Given the description of an element on the screen output the (x, y) to click on. 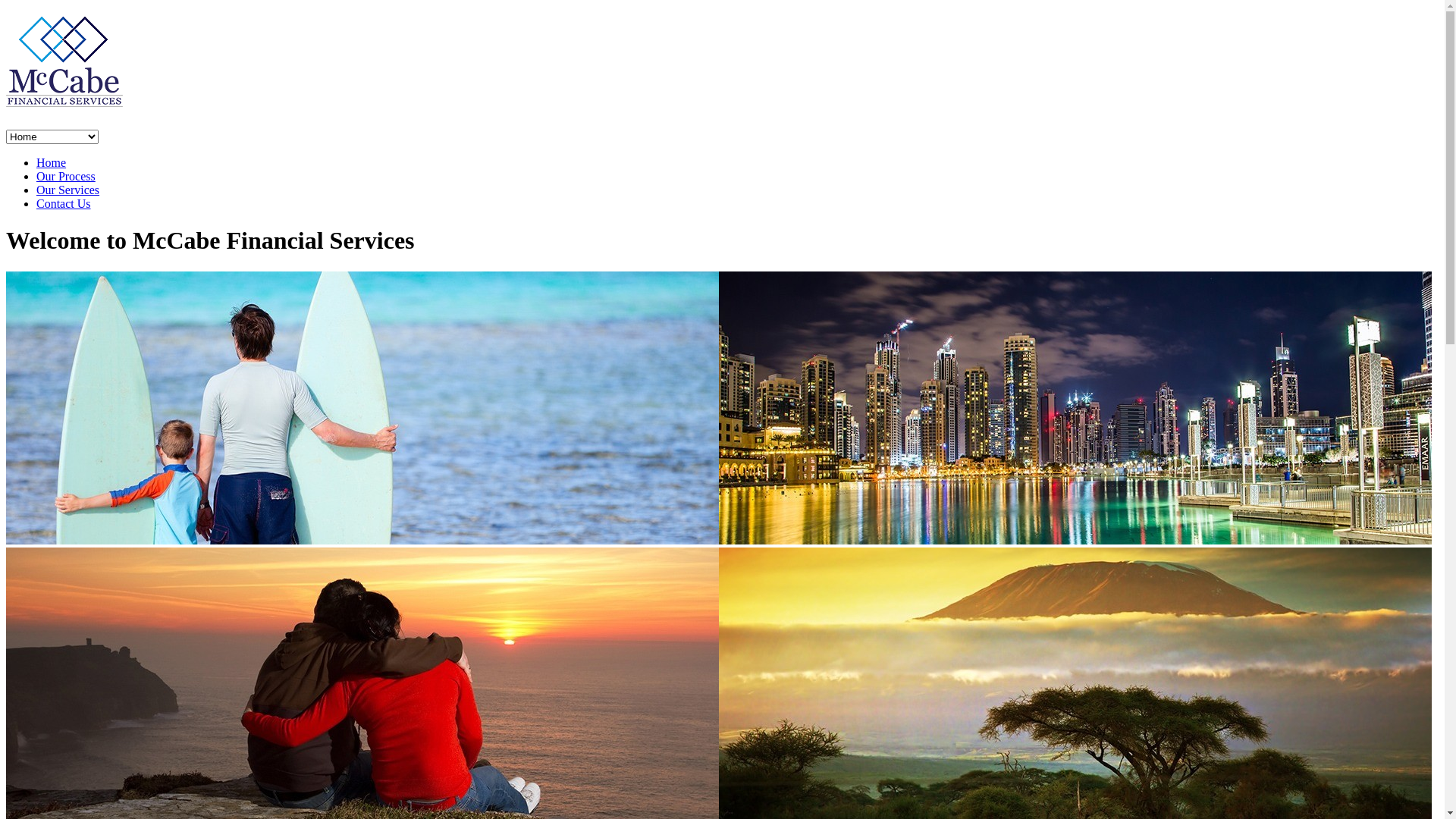
Our Services Element type: text (67, 189)
Home Element type: text (50, 162)
Our Process Element type: text (65, 175)
Contact Us Element type: text (63, 203)
